Given the description of an element on the screen output the (x, y) to click on. 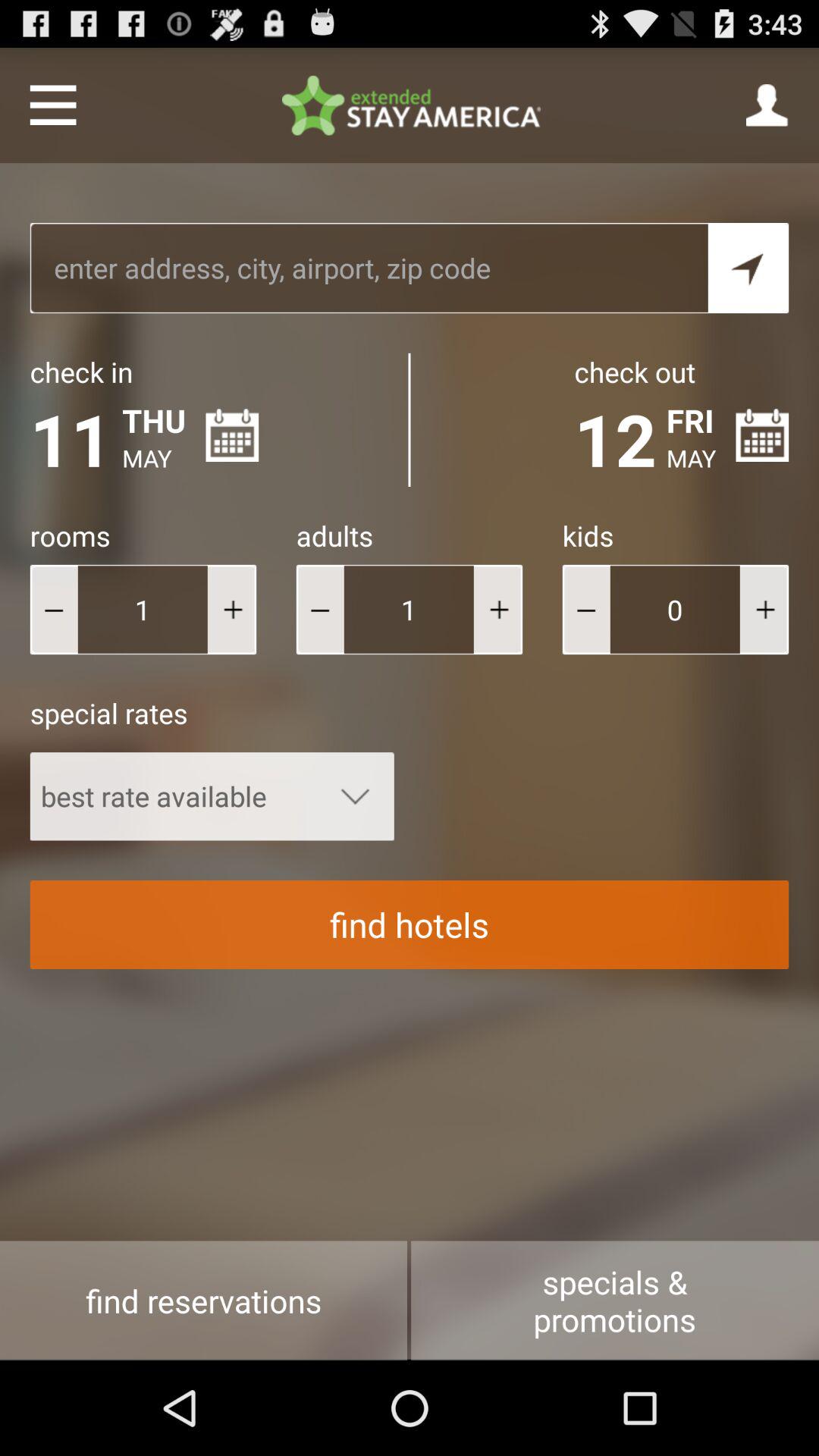
menu (53, 105)
